Given the description of an element on the screen output the (x, y) to click on. 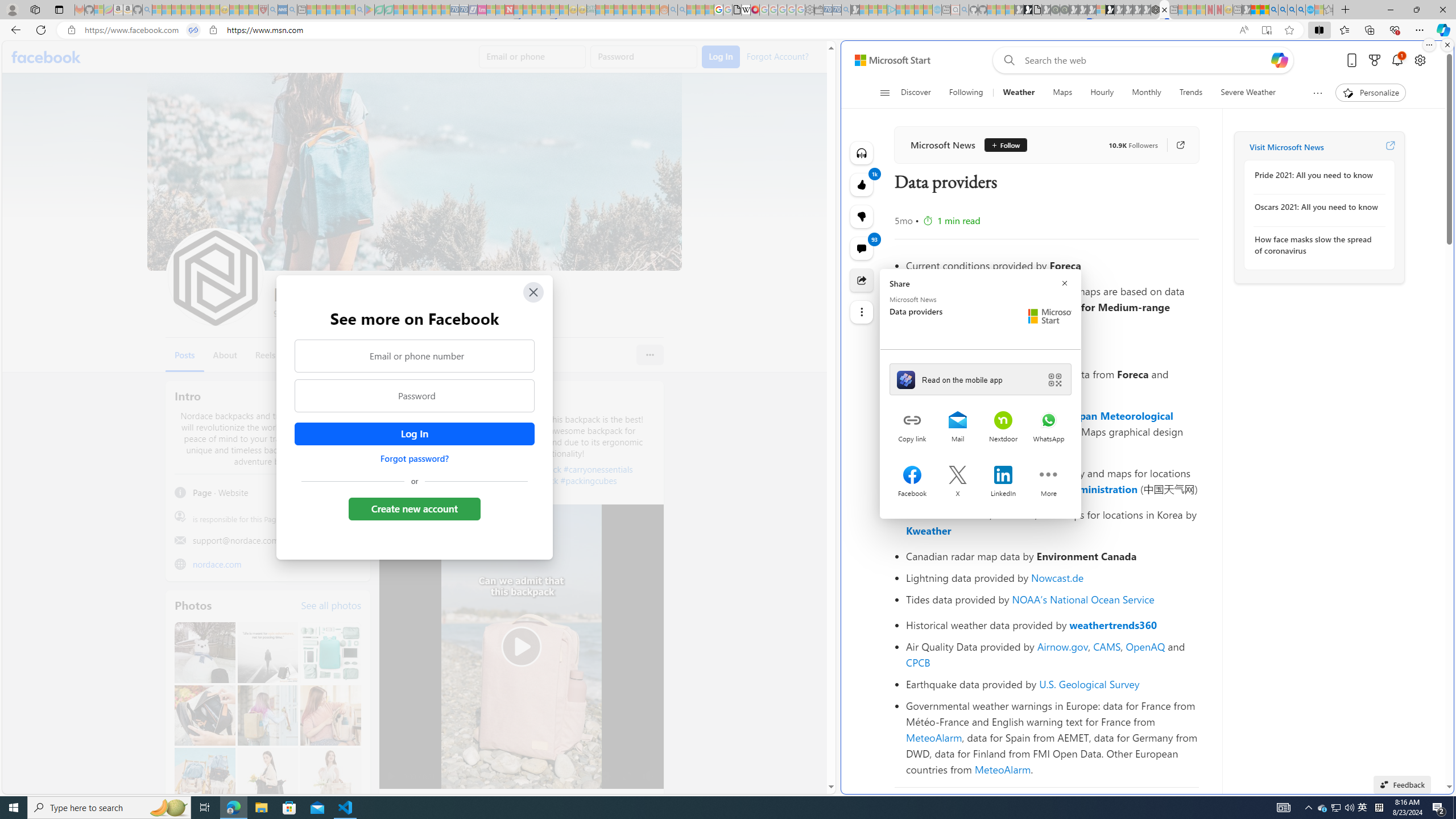
Password (414, 395)
Share this story (861, 279)
Trends (1190, 92)
Monthly (1146, 92)
Other map data provided by Foreca (1051, 348)
OpenAQ (1144, 646)
